Given the description of an element on the screen output the (x, y) to click on. 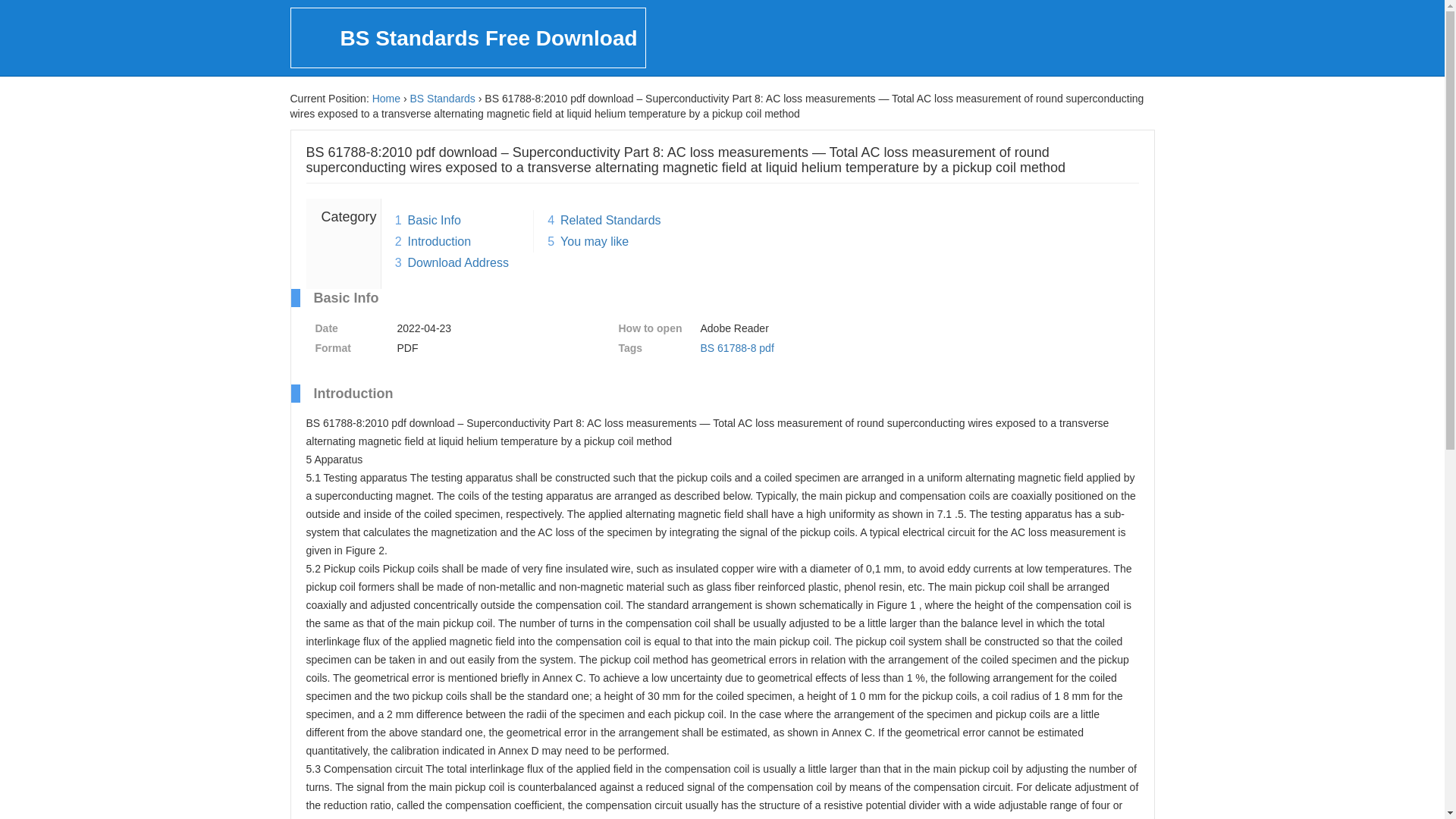
Related Standards (610, 219)
BS 61788-8 pdf (737, 347)
Basic Info (434, 219)
You may like (594, 241)
Introduction (439, 241)
Download Address (457, 262)
Home (386, 98)
BS Standards (441, 98)
BS Standards Free Download (467, 37)
